Given the description of an element on the screen output the (x, y) to click on. 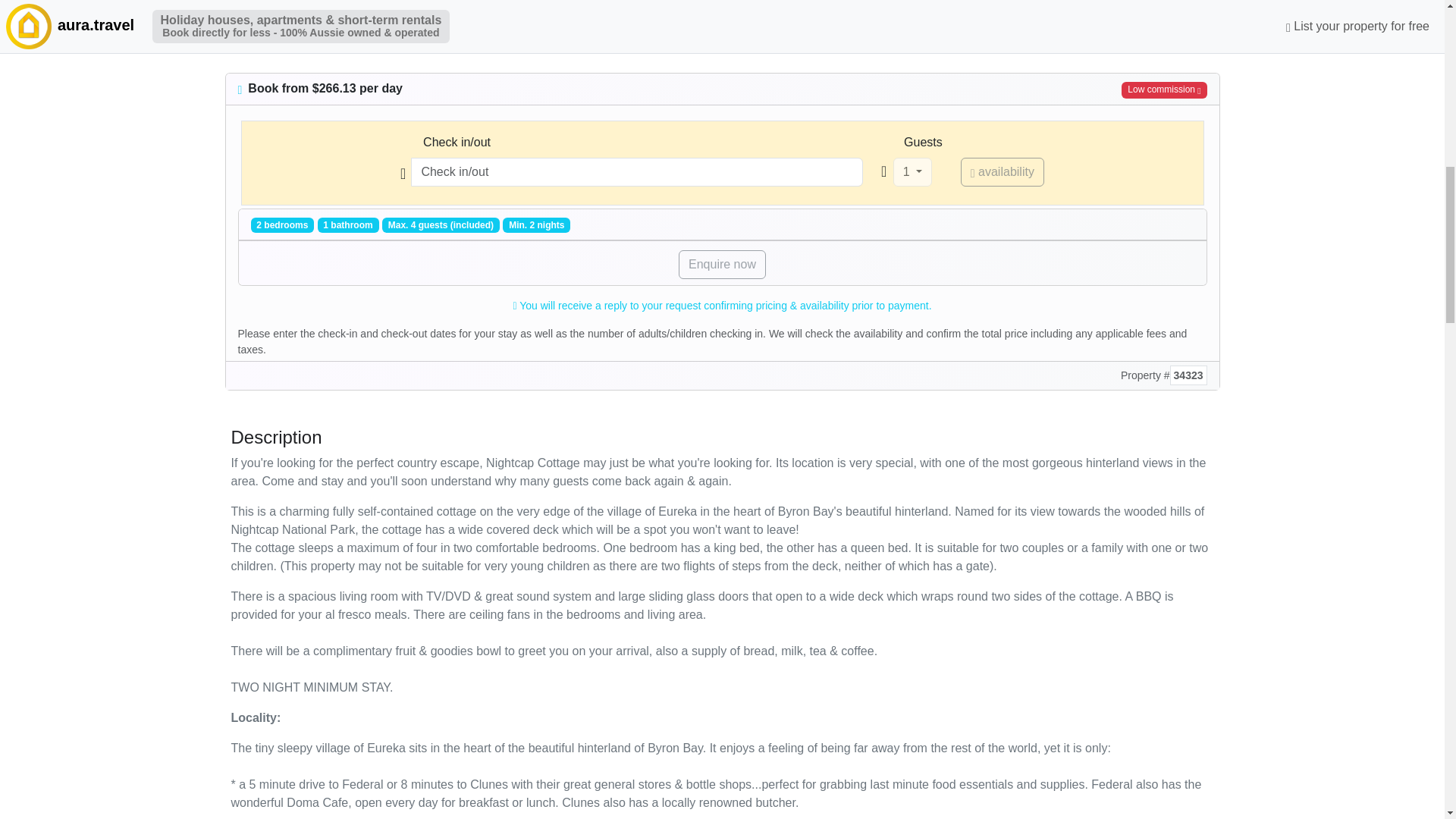
INFO (371, 33)
Enquire now (721, 264)
BOOKING (321, 33)
availability (1001, 172)
MAP (407, 33)
1 (912, 172)
REVIEWS (455, 33)
Low commission (1164, 89)
PHOTOS (259, 33)
